Given the description of an element on the screen output the (x, y) to click on. 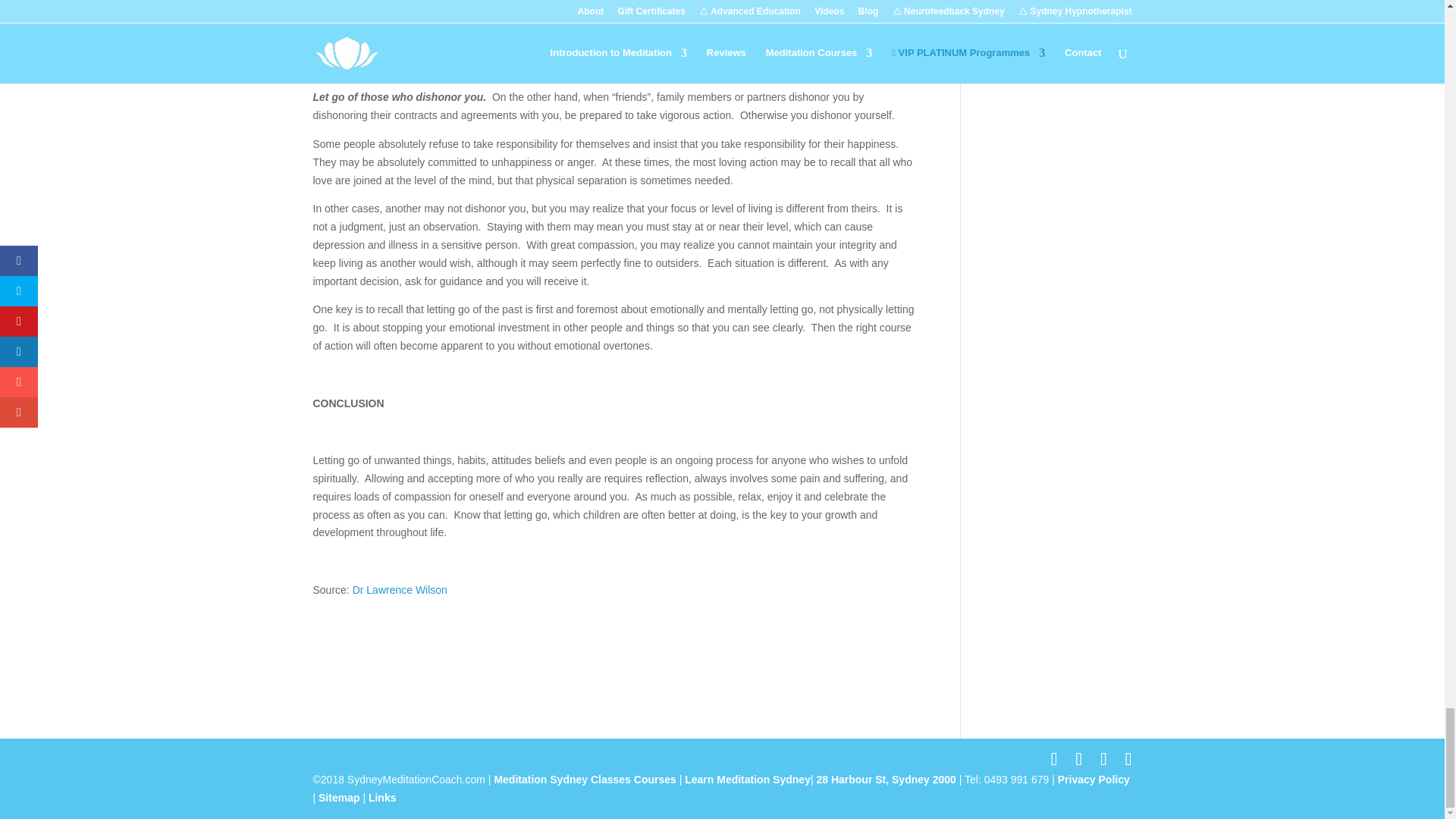
Learn Meditation Sydney (747, 779)
Dr Lawrence Wilson (399, 589)
Meditation Sydney Classes Courses (585, 779)
